Given the description of an element on the screen output the (x, y) to click on. 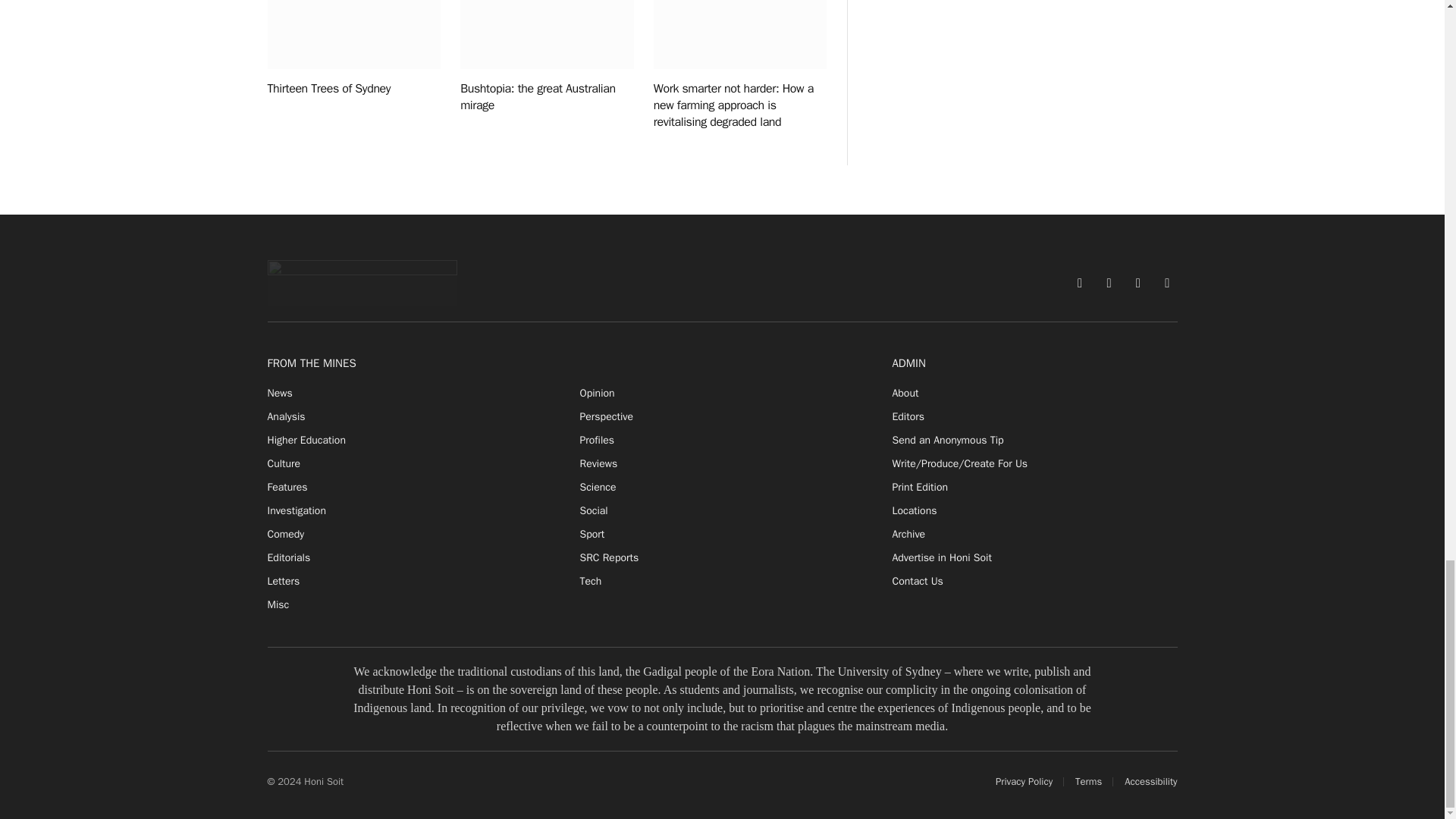
Thirteen Trees of Sydney (353, 34)
Bushtopia: the great Australian mirage (546, 34)
